Given the description of an element on the screen output the (x, y) to click on. 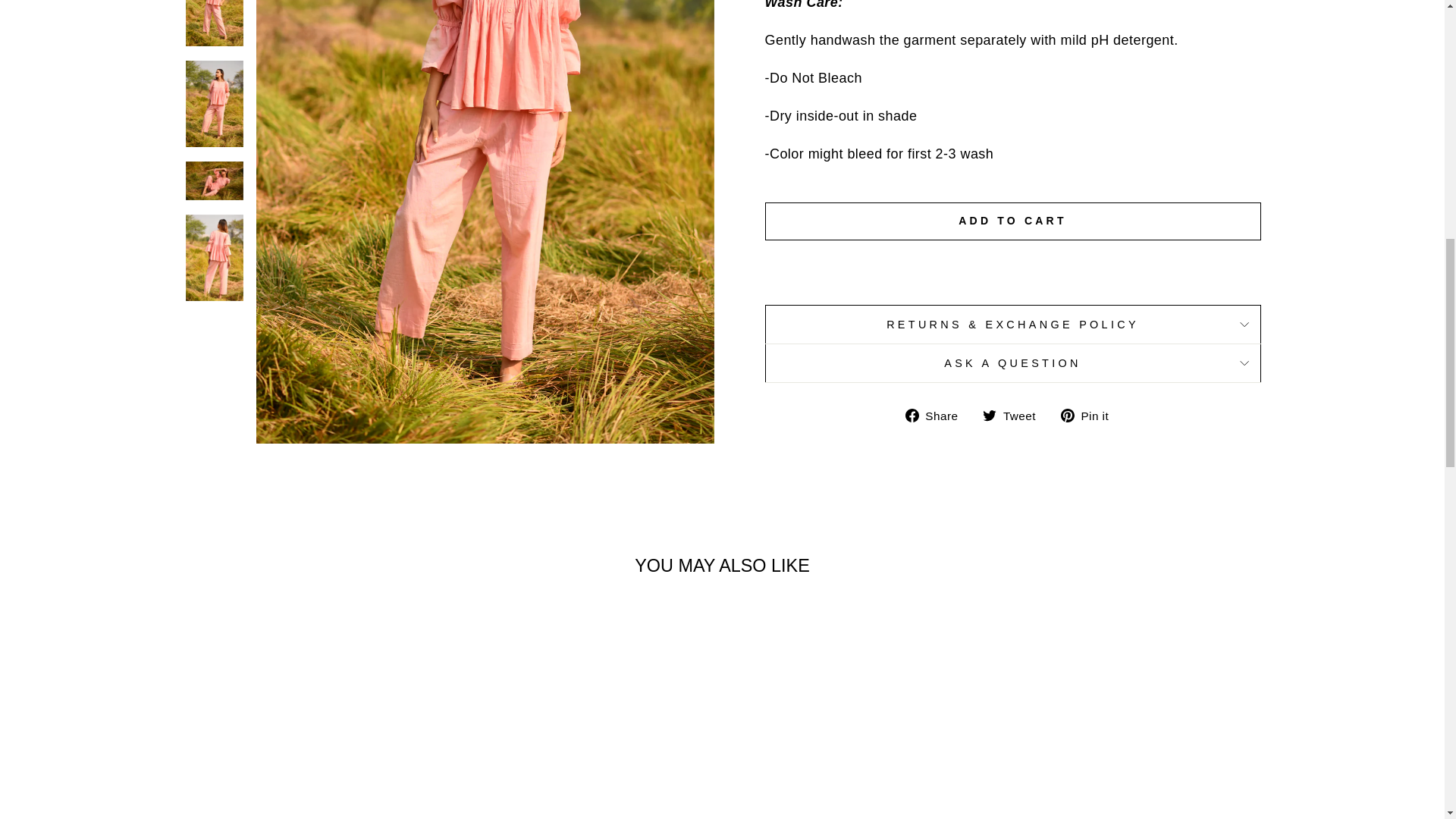
Share on Facebook (937, 415)
Tweet on Twitter (1014, 415)
twitter (988, 415)
Pin on Pinterest (1090, 415)
